Given the description of an element on the screen output the (x, y) to click on. 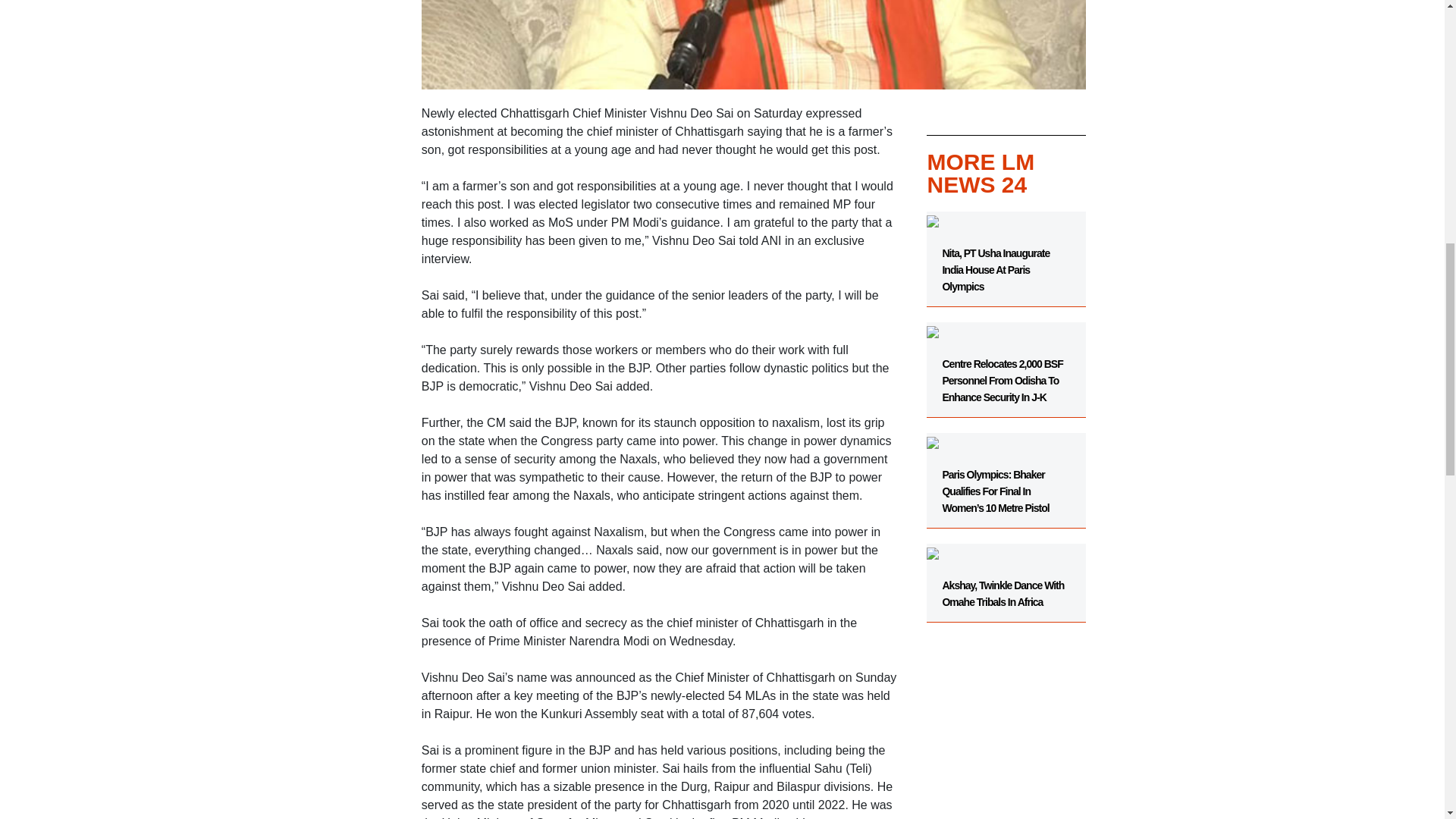
Akshay, Twinkle Dance With Omahe Tribals In Africa (1006, 575)
Nita, PT Usha Inaugurate India House At Paris Olympics (1006, 259)
